Given the description of an element on the screen output the (x, y) to click on. 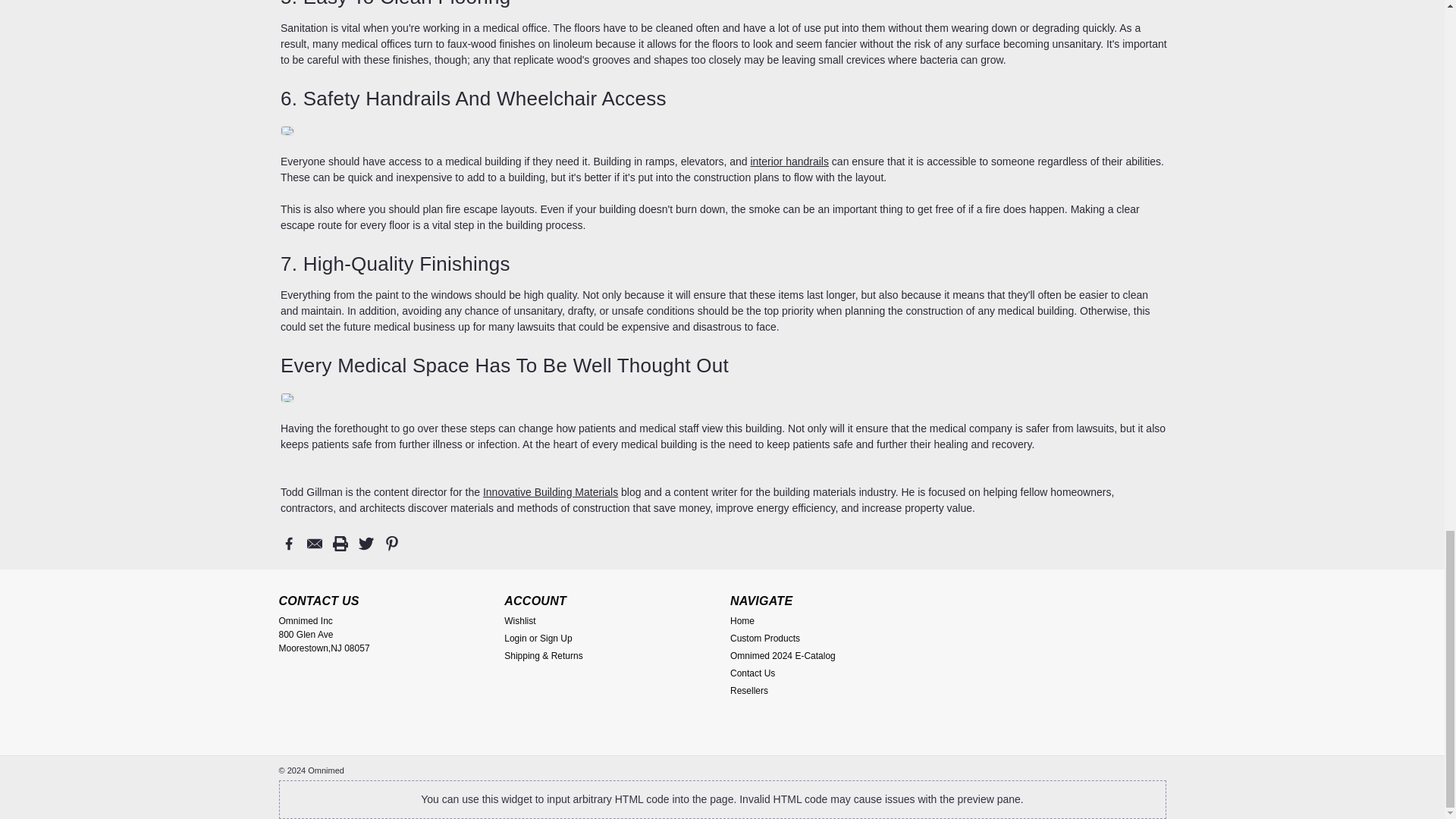
Twitter (366, 543)
Facebook (289, 543)
Email (314, 543)
Print (340, 543)
Pinterest (391, 543)
